Given the description of an element on the screen output the (x, y) to click on. 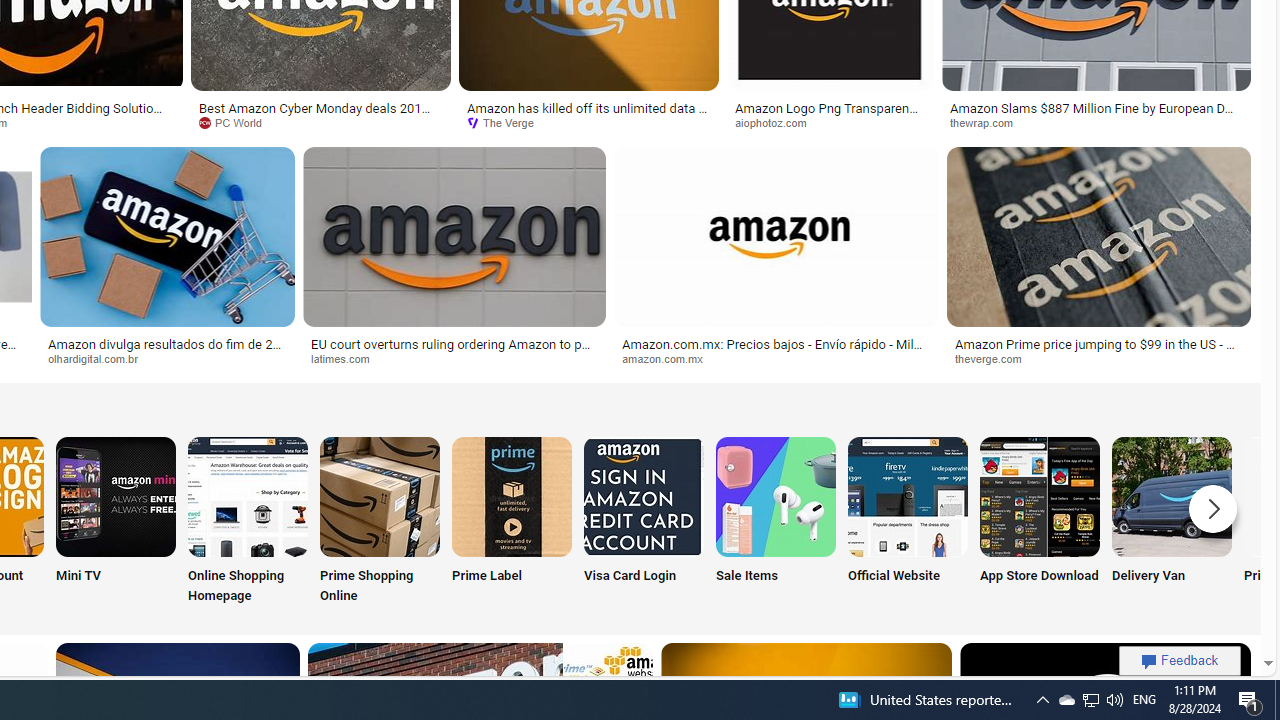
aiophotoz.com (777, 121)
latimes.com (454, 359)
thewrap.com (1095, 123)
Official Website (907, 521)
Prime Label (511, 521)
Amazon App Store Download App Store Download (1039, 521)
Scroll more suggestions right (1213, 508)
